Given the description of an element on the screen output the (x, y) to click on. 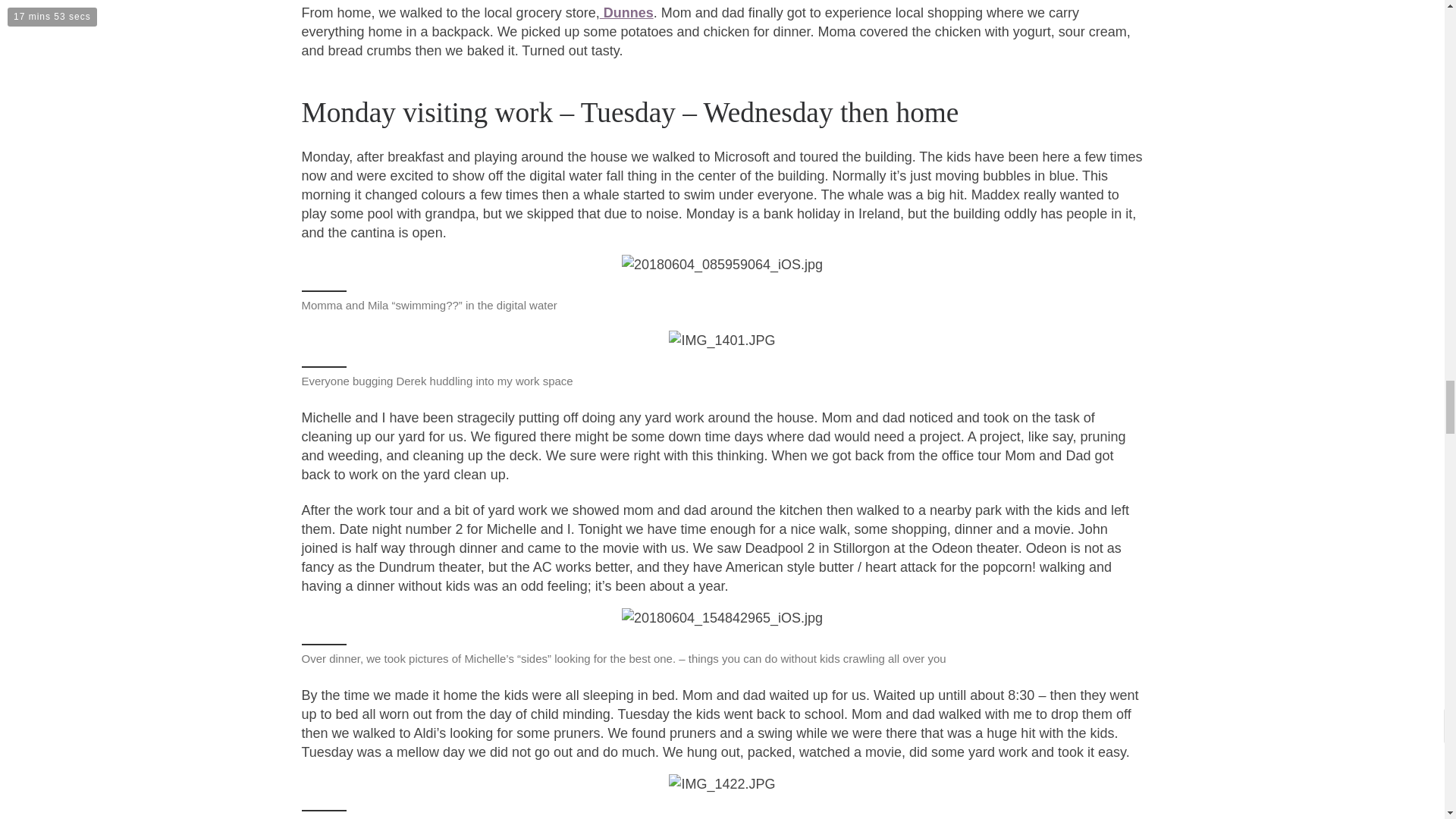
Dunnes (626, 12)
